Given the description of an element on the screen output the (x, y) to click on. 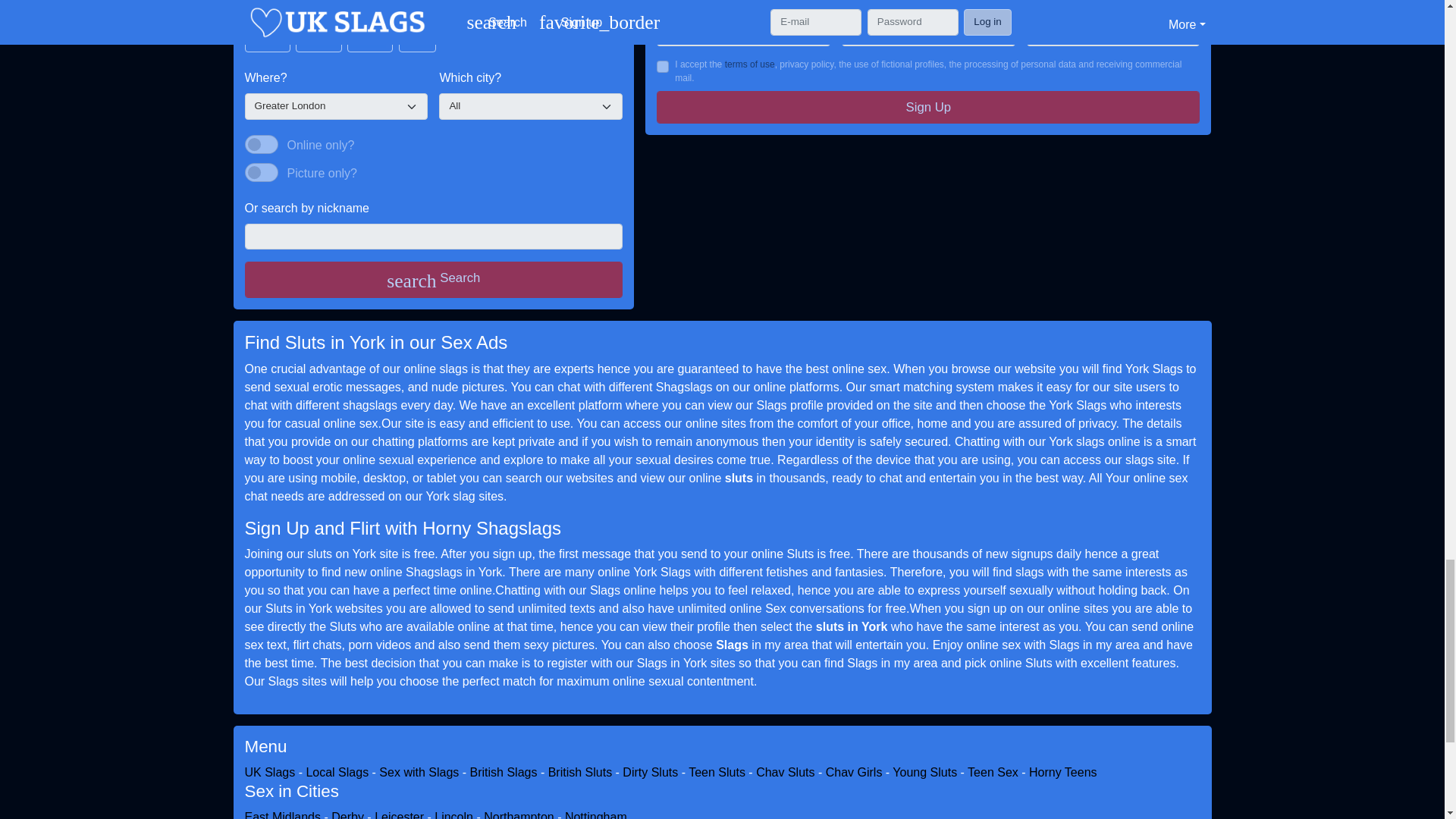
26-35 (300, 31)
36-54 (351, 31)
18-25 (248, 31)
search Search (433, 279)
1 (261, 144)
1 (261, 172)
1 (662, 66)
